Given the description of an element on the screen output the (x, y) to click on. 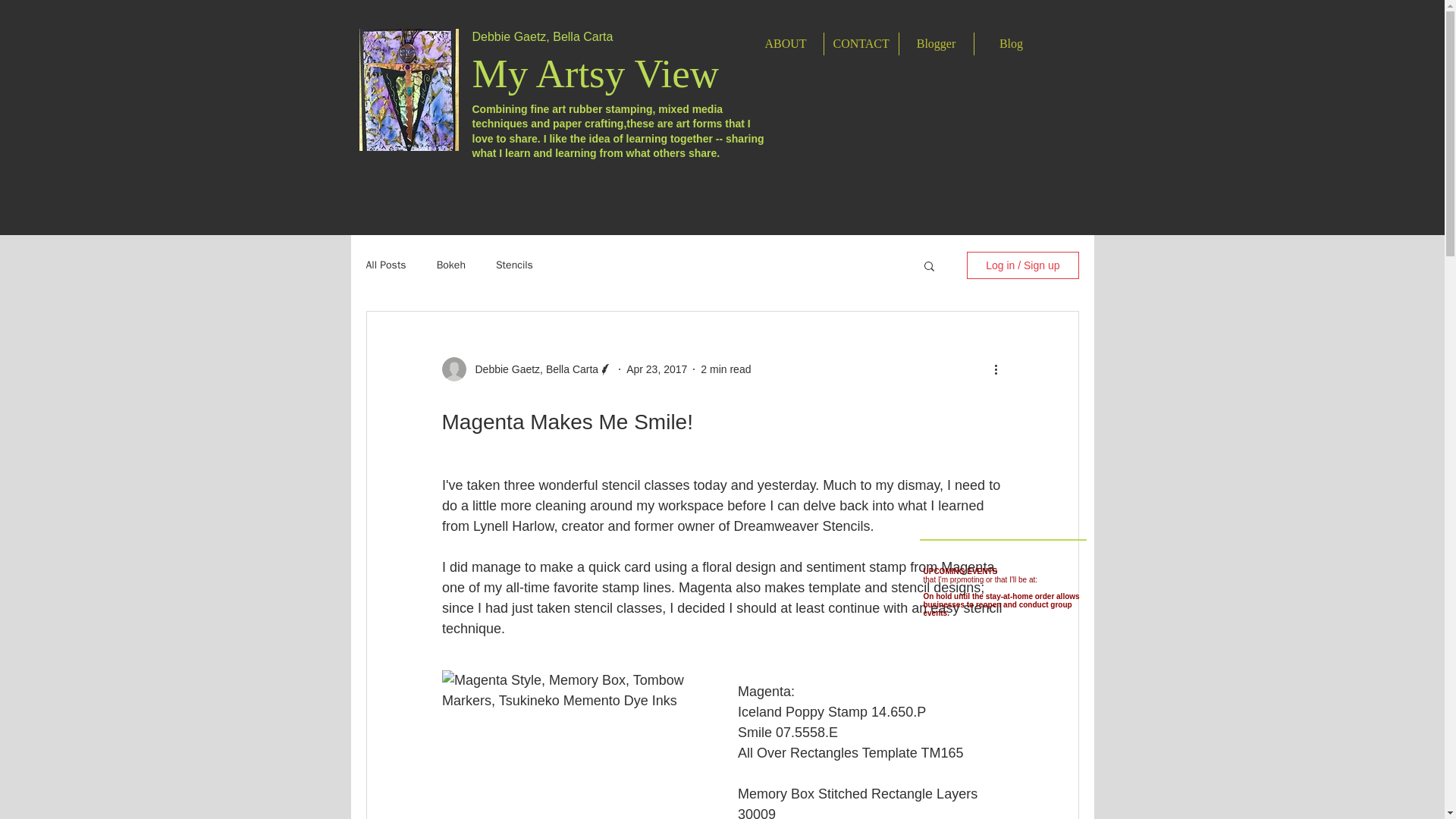
All Posts (385, 264)
ABOUT (785, 43)
Debbie Gaetz, Bella Carta (531, 368)
Bokeh (450, 264)
Apr 23, 2017 (656, 368)
Blog (1011, 43)
CONTACT (861, 43)
Stencils (514, 264)
Blogger (936, 43)
2 min read (725, 368)
